Given the description of an element on the screen output the (x, y) to click on. 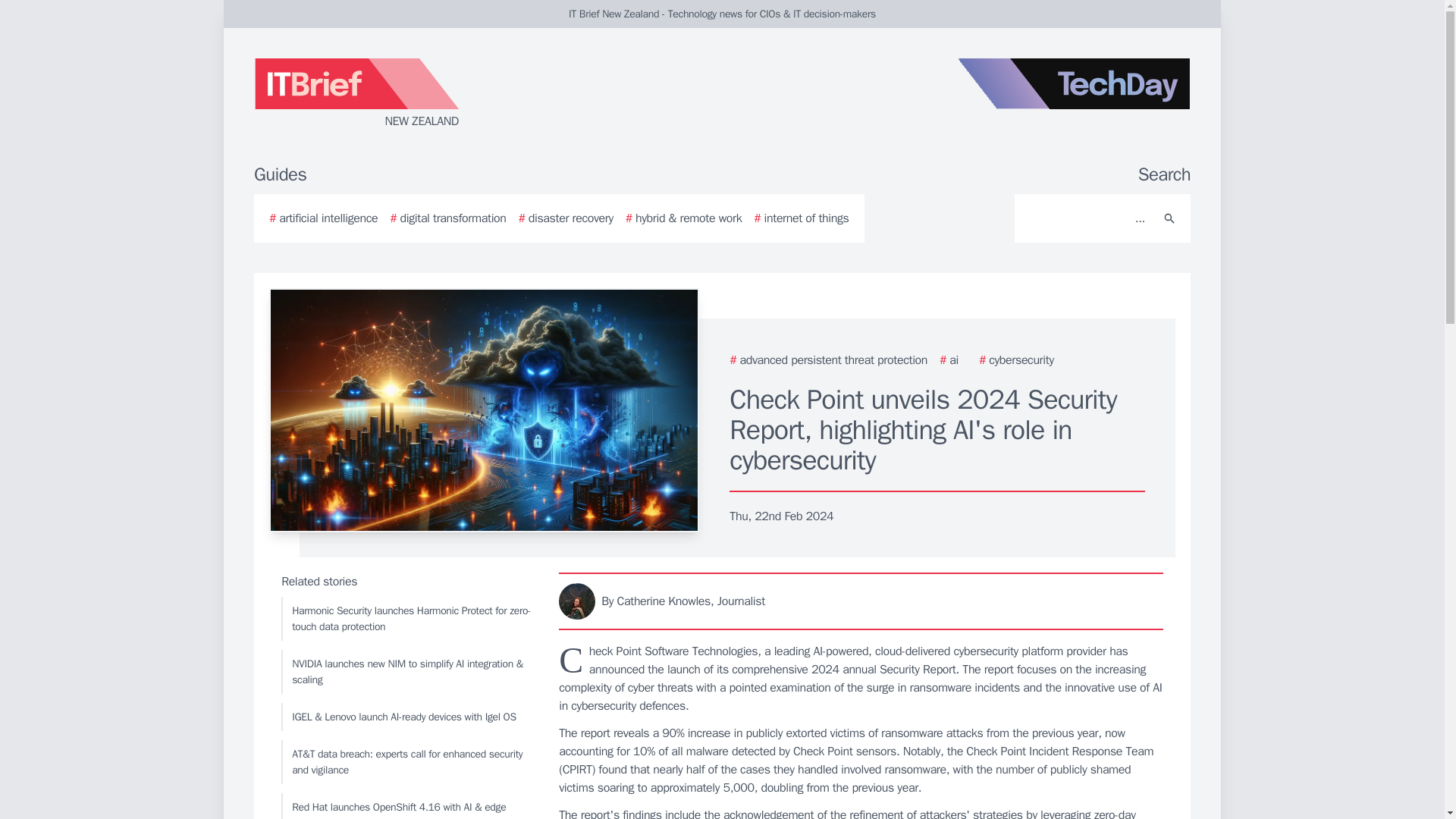
NEW ZEALAND (435, 94)
By Catherine Knowles, Journalist (861, 601)
